Given the description of an element on the screen output the (x, y) to click on. 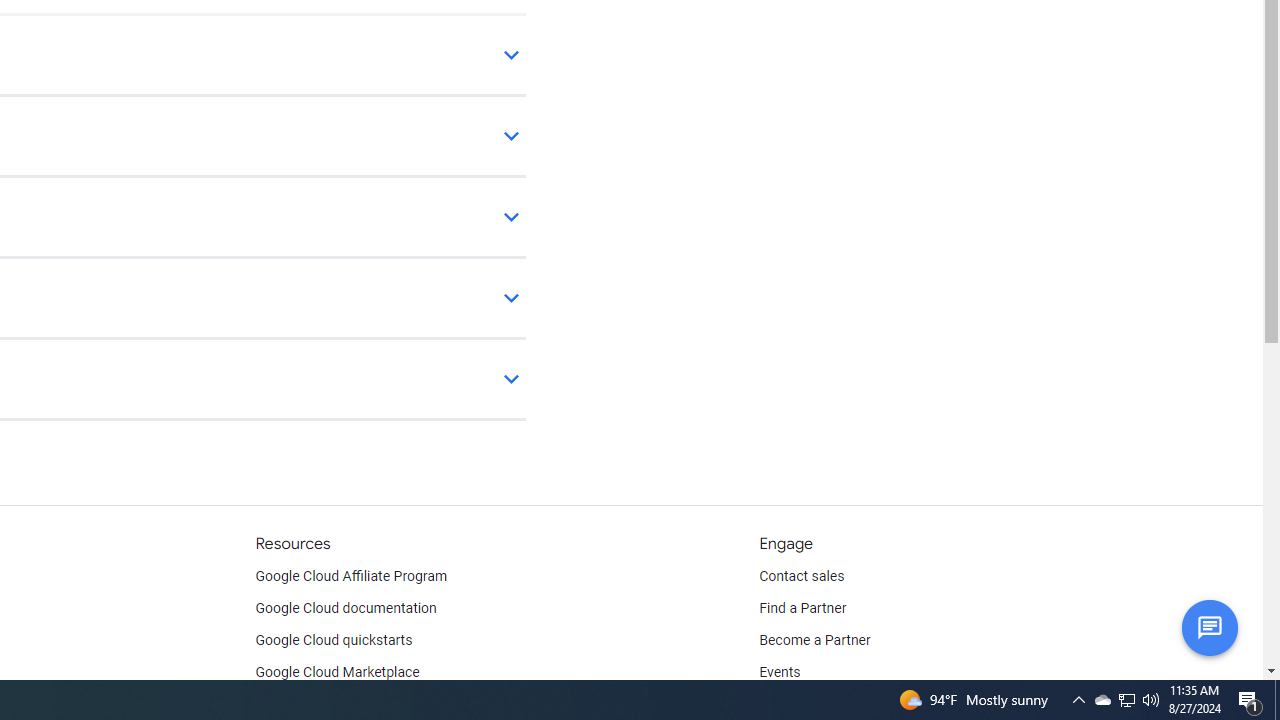
Button to activate chat (1209, 627)
Google Cloud documentation (345, 608)
Events (780, 672)
Google Cloud quickstarts (333, 640)
Become a Partner (814, 640)
Google Cloud Affiliate Program (351, 576)
Google Cloud Marketplace (336, 672)
Find a Partner (803, 608)
Contact sales (801, 576)
